Given the description of an element on the screen output the (x, y) to click on. 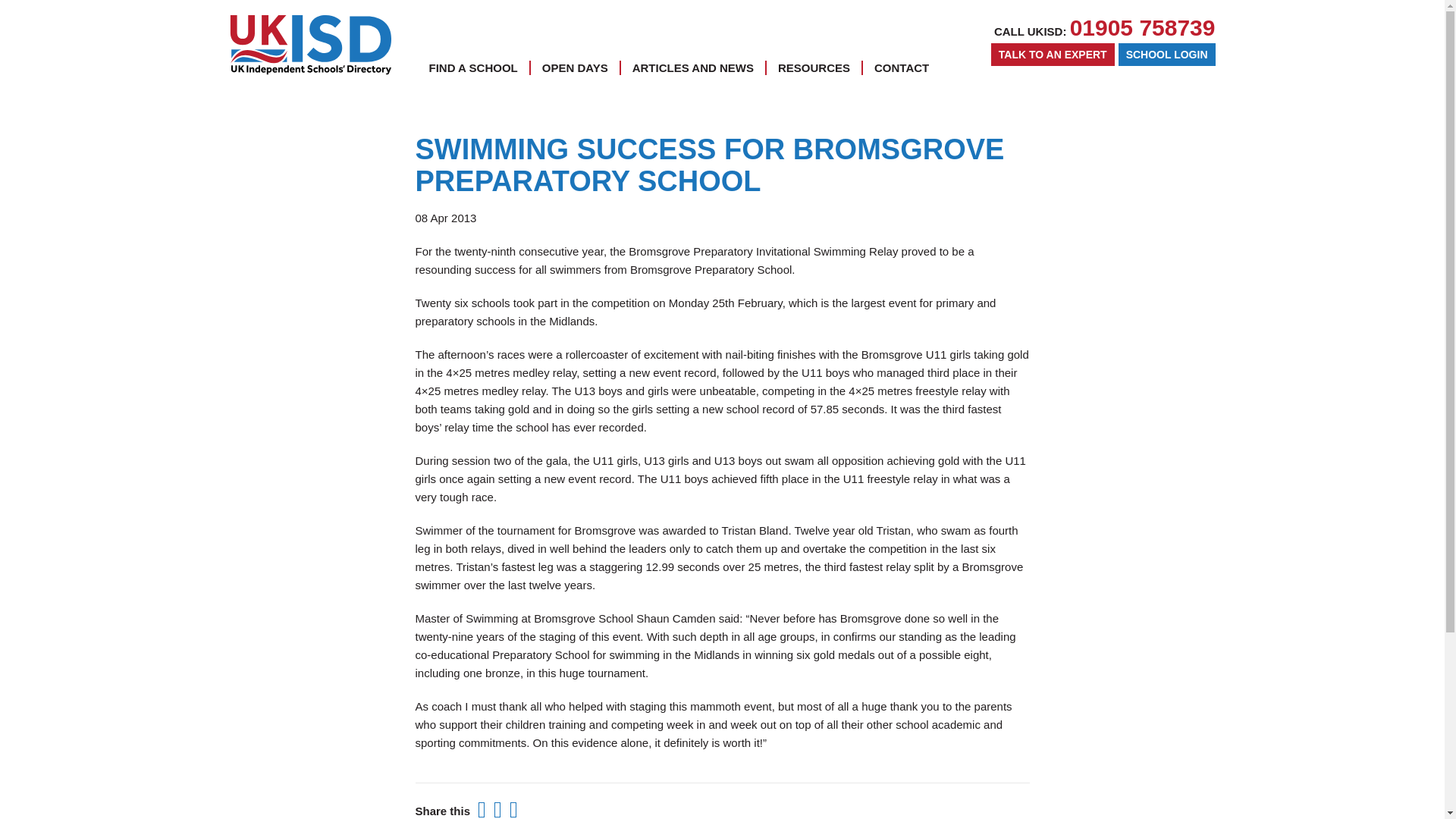
CONTACT (901, 67)
TALK TO AN EXPERT (1053, 54)
OPEN DAYS (574, 67)
FIND A SCHOOL (473, 67)
ARTICLES AND NEWS (692, 67)
SCHOOL LOGIN (1166, 54)
RESOURCES (813, 67)
01905 758739 (1142, 27)
